Given the description of an element on the screen output the (x, y) to click on. 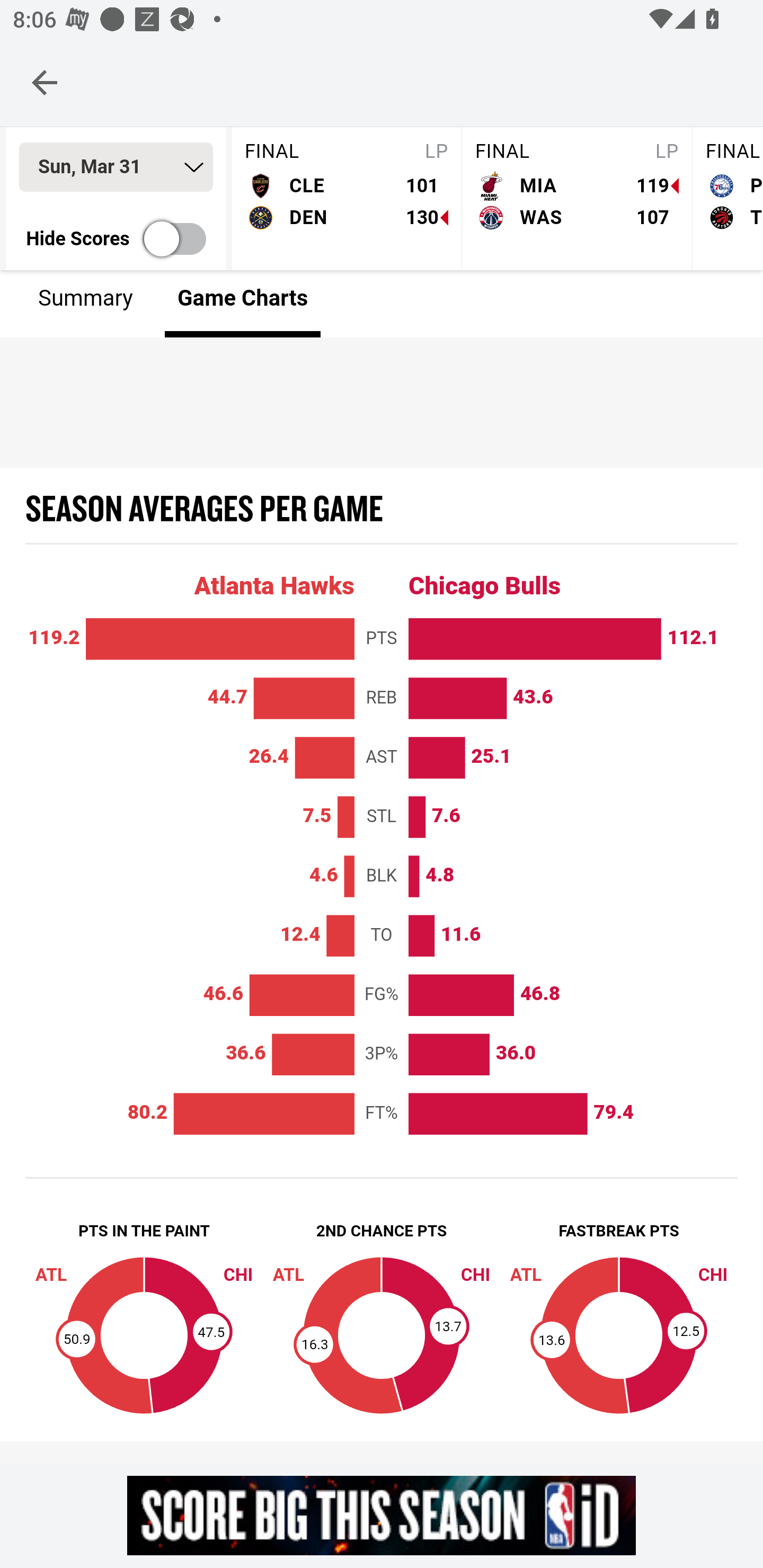
Navigate up (44, 82)
Sun, Mar 31 (115, 168)
Summary Summary Summary (85, 302)
Game Charts Game Charts Game Charts (242, 302)
g5nqqygr7owph (381, 1515)
